Given the description of an element on the screen output the (x, y) to click on. 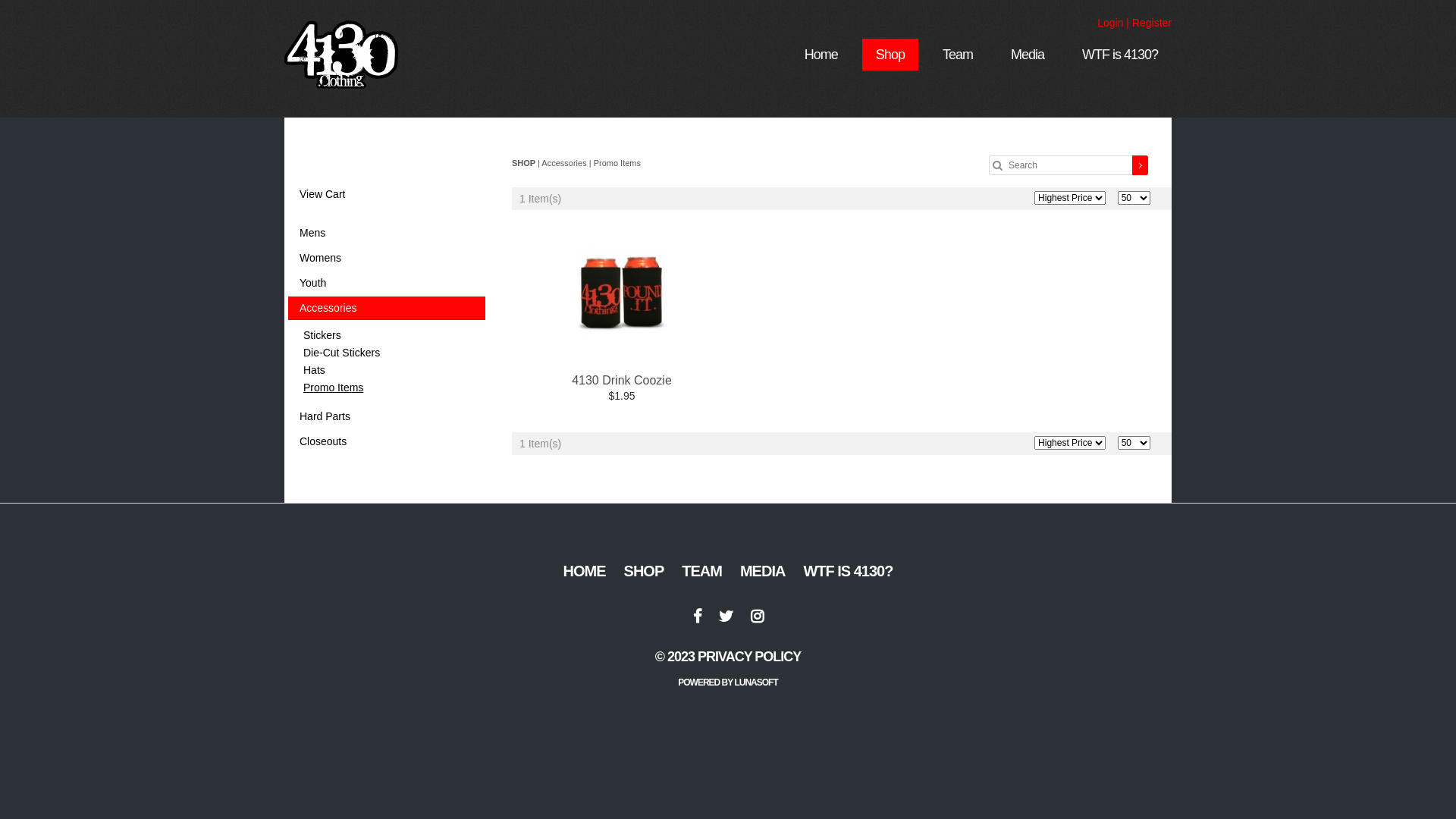
Hard Parts Element type: text (386, 416)
WTF is 4130? Element type: text (1119, 54)
Youth Element type: text (386, 282)
Team Element type: text (957, 54)
WTF IS 4130? Element type: text (847, 570)
SHOP Element type: text (644, 570)
Media Element type: text (1027, 54)
HOME Element type: text (584, 570)
PRIVACY POLICY Element type: text (748, 656)
Shop Element type: text (890, 54)
Womens Element type: text (386, 257)
View Cart Element type: text (386, 194)
Promo Items Element type: text (616, 162)
4130 Drink Coozie Element type: text (621, 379)
Register Element type: text (1151, 22)
Stickers Element type: text (390, 335)
Promo Items Element type: text (390, 387)
SHOP Element type: text (524, 162)
TEAM Element type: text (701, 570)
Die-Cut Stickers Element type: text (390, 352)
Accessories Element type: text (386, 308)
LUNASOFT Element type: text (755, 682)
Home Element type: text (820, 54)
Mens Element type: text (386, 232)
Login Element type: text (1110, 22)
Closeouts Element type: text (386, 441)
Hats Element type: text (390, 370)
MEDIA Element type: text (762, 570)
Accessories Element type: text (564, 162)
